Given the description of an element on the screen output the (x, y) to click on. 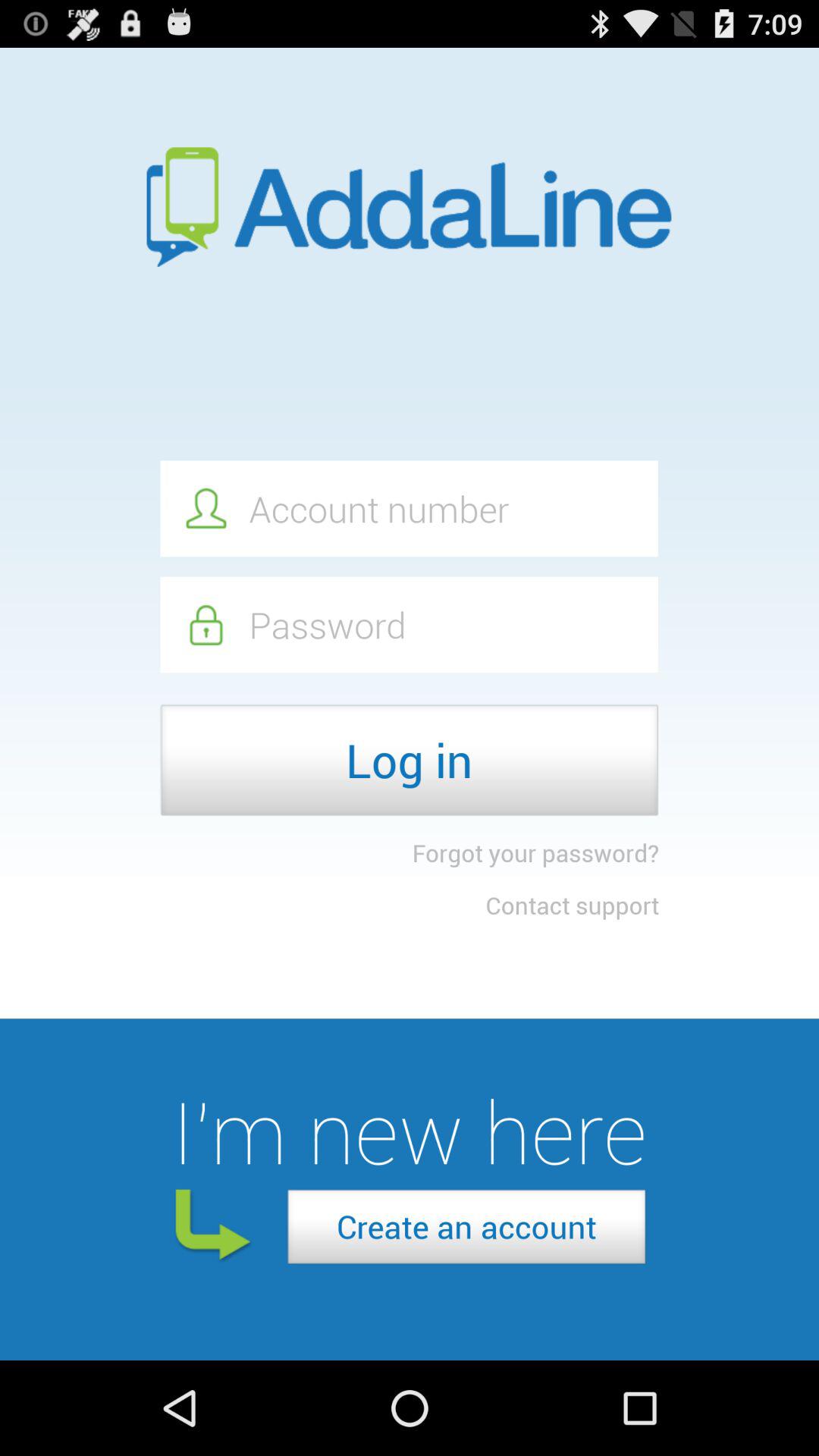
launch item below the log in item (535, 852)
